Given the description of an element on the screen output the (x, y) to click on. 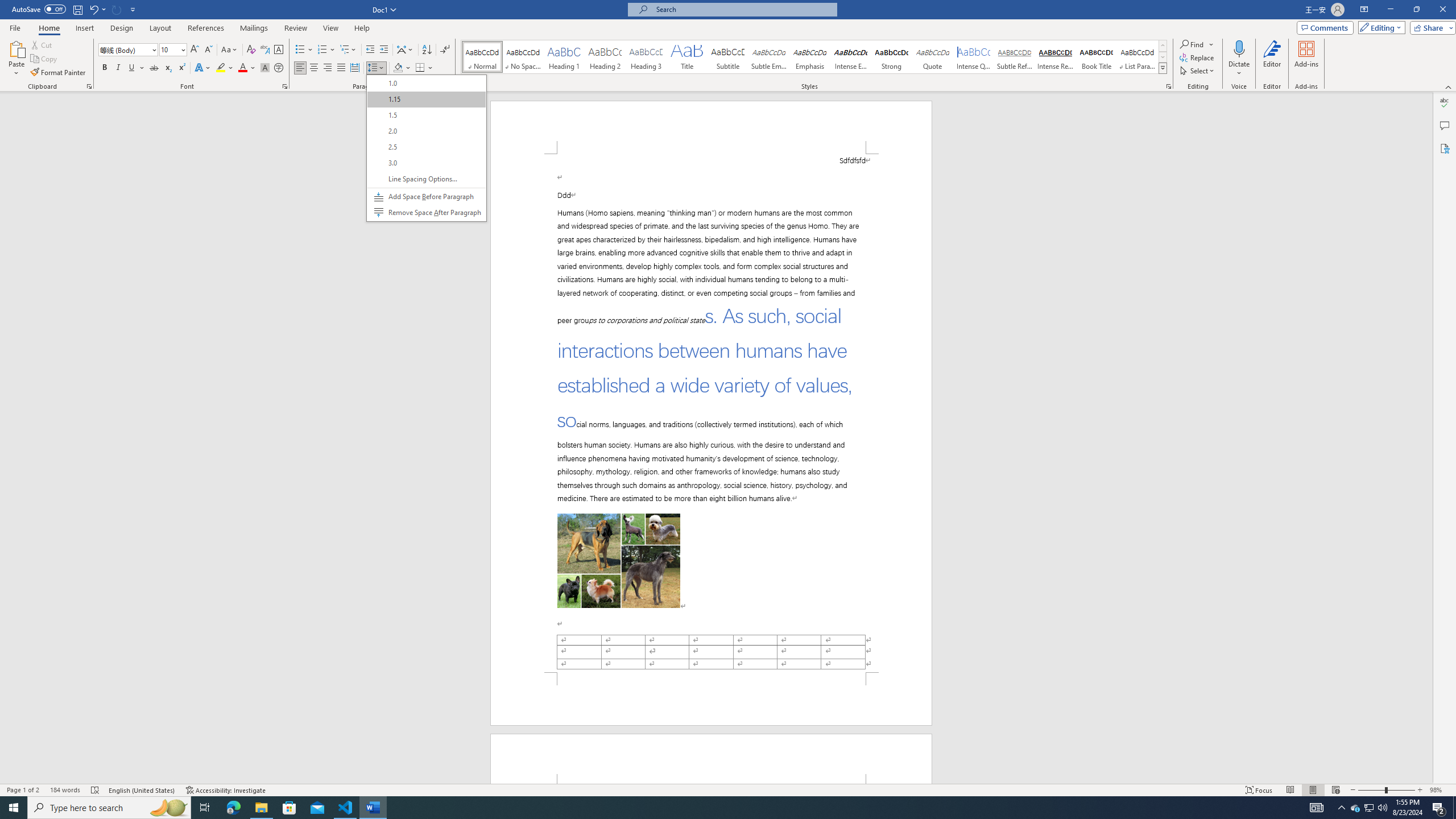
Intense Reference (1055, 56)
Search highlights icon opens search home window (167, 807)
Microsoft Store (289, 807)
Page Number Page 1 of 2 (22, 790)
Spelling and Grammar Check Errors (94, 790)
File Explorer - 1 running window (261, 807)
Footer -Section 1- (710, 698)
Clear Formatting (250, 49)
